Given the description of an element on the screen output the (x, y) to click on. 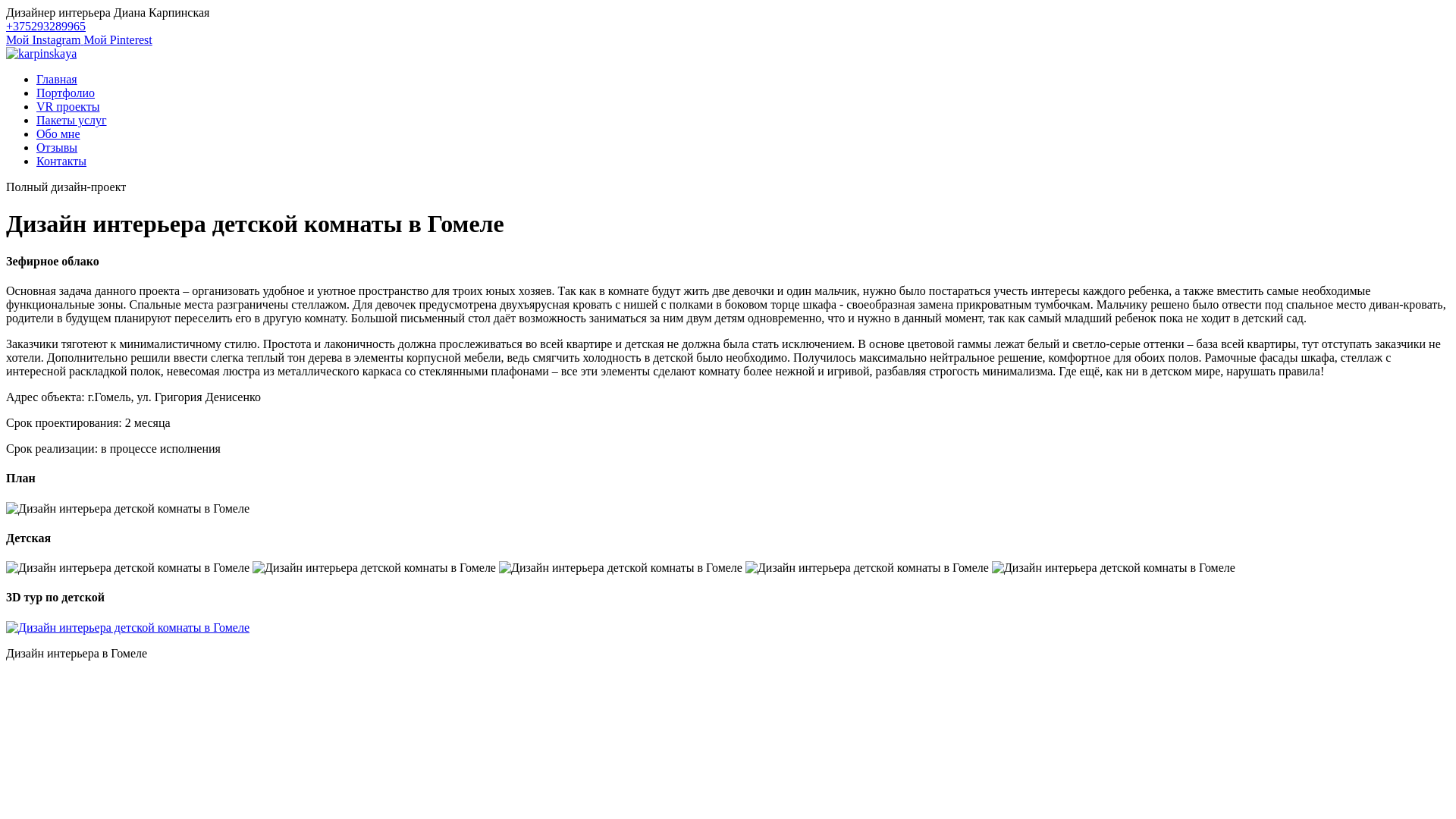
+375293289965 Element type: text (45, 25)
